Given the description of an element on the screen output the (x, y) to click on. 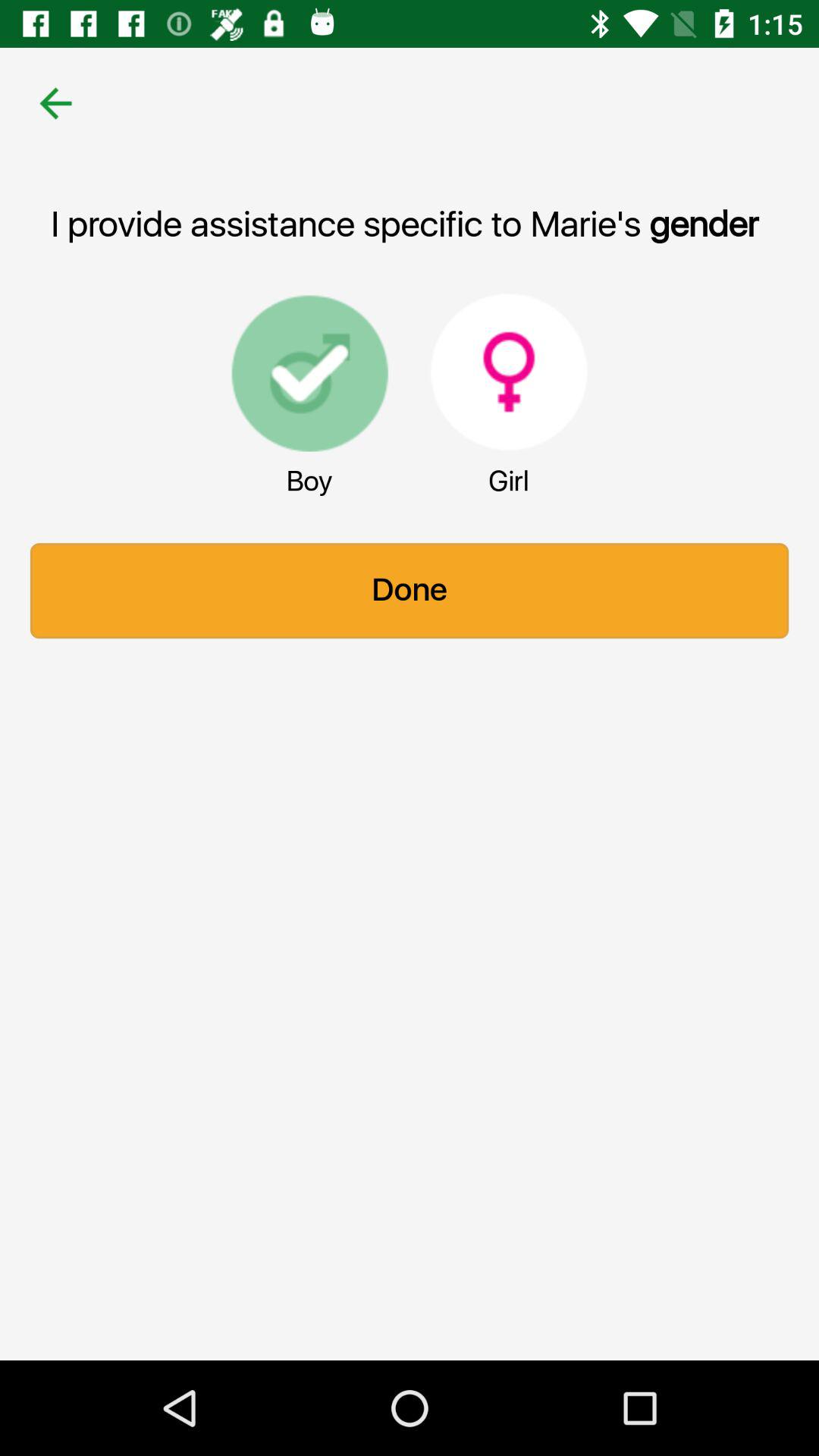
turn off the item at the top left corner (55, 103)
